Given the description of an element on the screen output the (x, y) to click on. 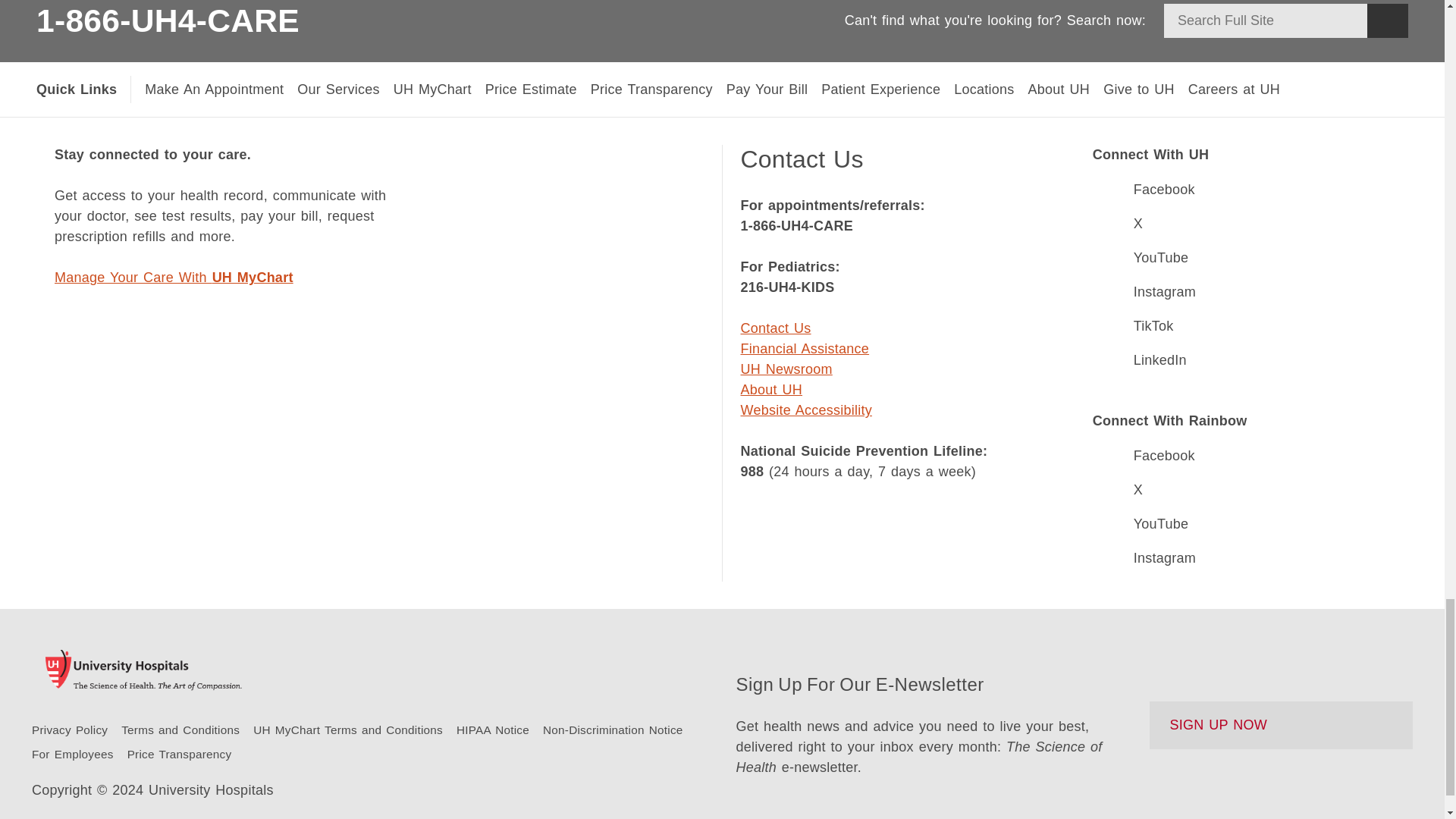
Search (1387, 20)
